Given the description of an element on the screen output the (x, y) to click on. 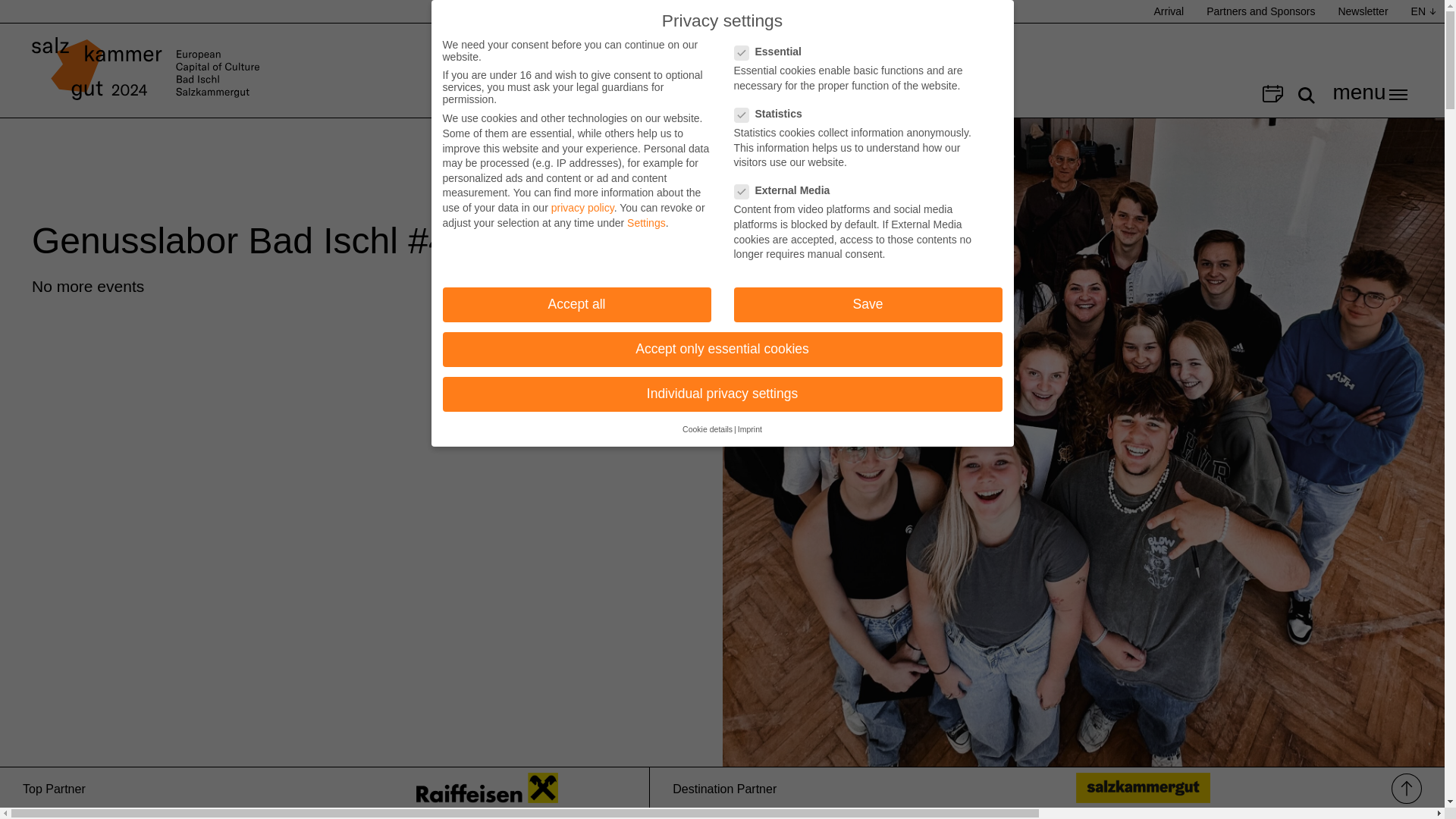
Newsletter (1362, 11)
EN (1421, 11)
Partners and Sponsors (1260, 11)
Arrival (1168, 11)
